Given the description of an element on the screen output the (x, y) to click on. 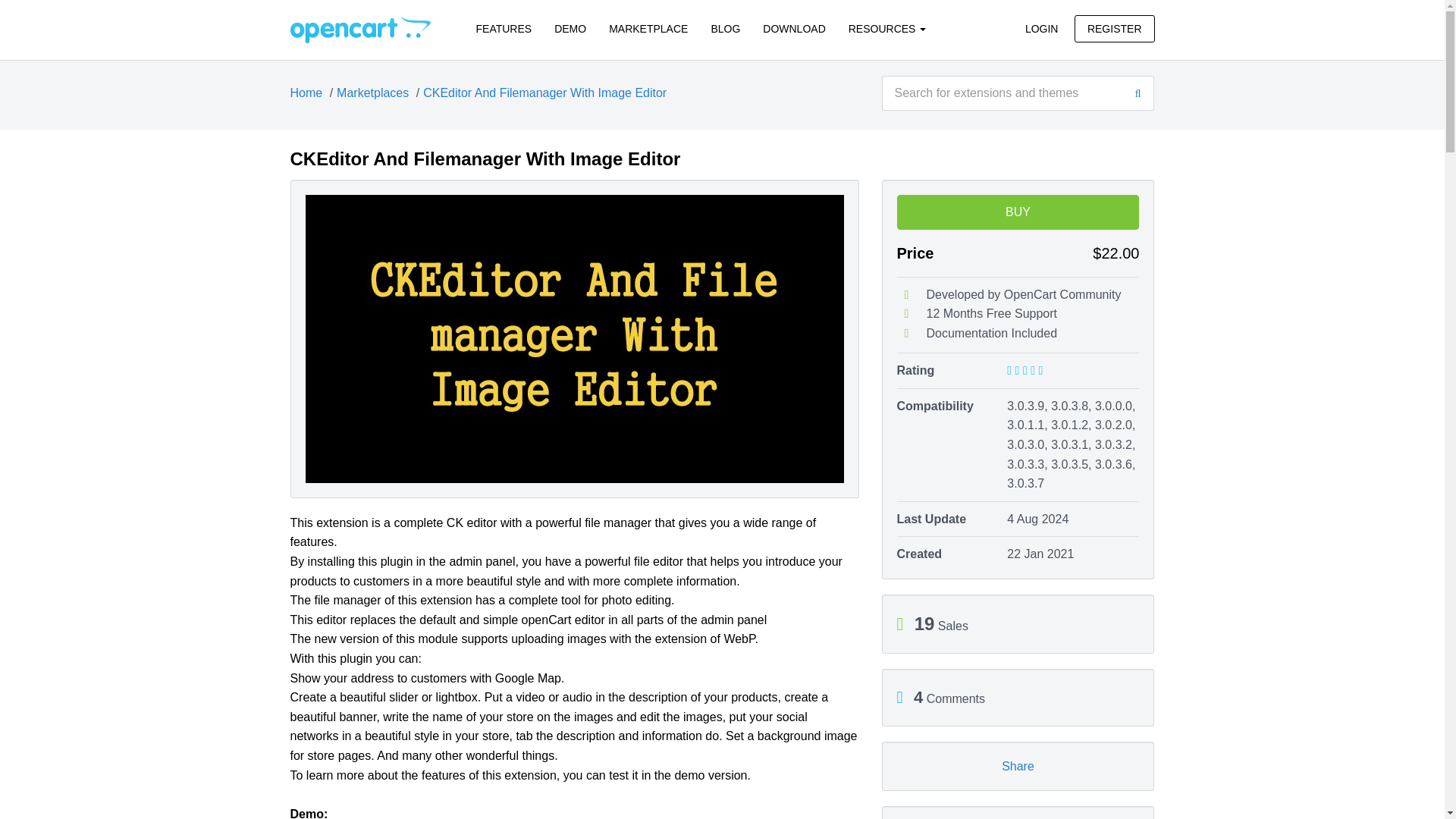
FEATURES (503, 28)
REGISTER (1114, 28)
DOWNLOAD (793, 28)
Marketplaces (372, 92)
MARKETPLACE (647, 28)
BLOG (724, 28)
DEMO (569, 28)
LOGIN (1041, 28)
RESOURCES (887, 28)
CKEditor And Filemanager With Image Editor (544, 92)
OpenCart - CKEditor And Filemanager With Image Editor (359, 29)
Home (305, 92)
